Given the description of an element on the screen output the (x, y) to click on. 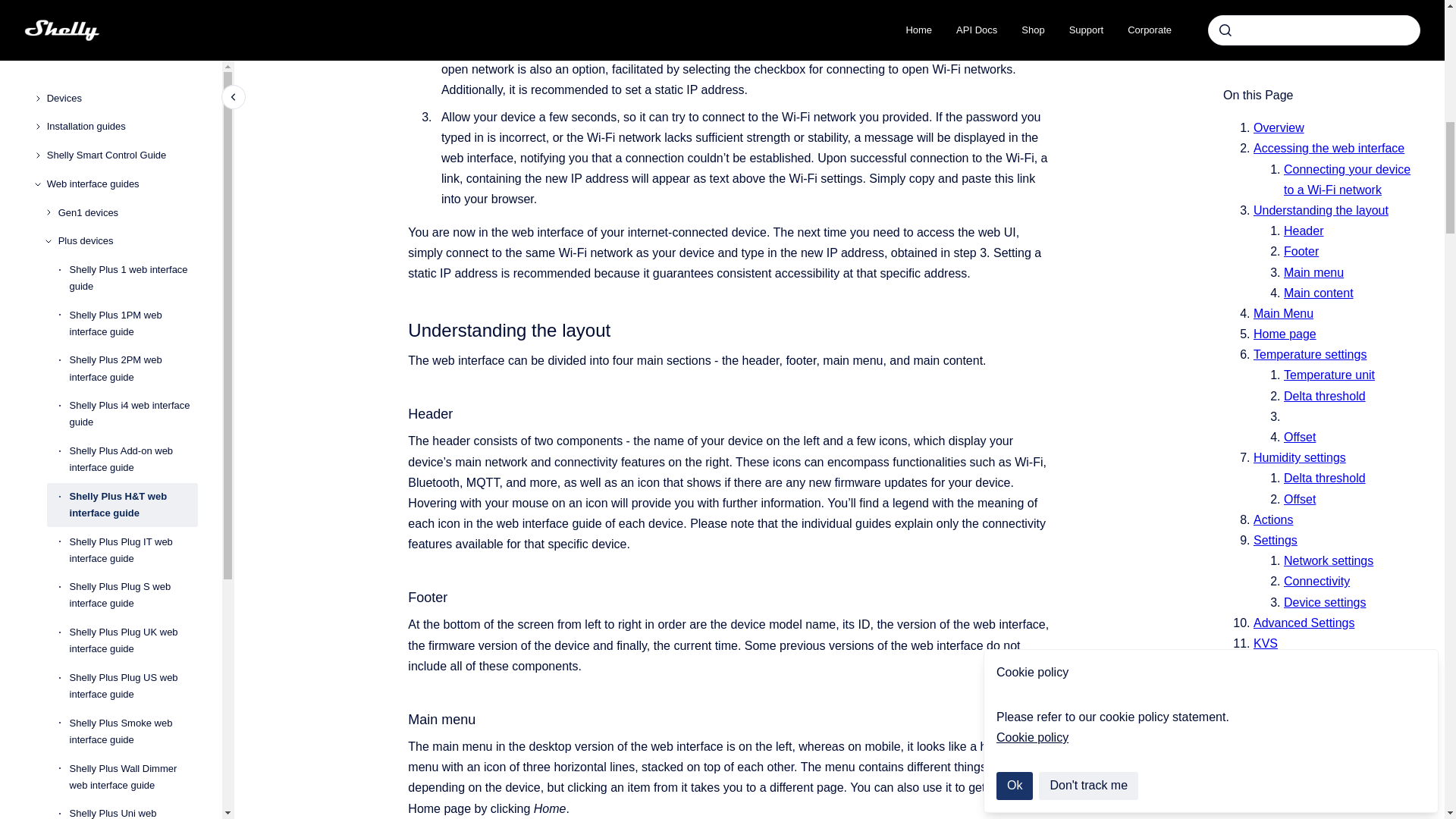
Shelly Plus Uni web interface guide (133, 12)
Shelly Plus RGBW PM web interface guide (133, 94)
Shelly Plus 0-10V Dimmer web interface guide (133, 48)
